Given the description of an element on the screen output the (x, y) to click on. 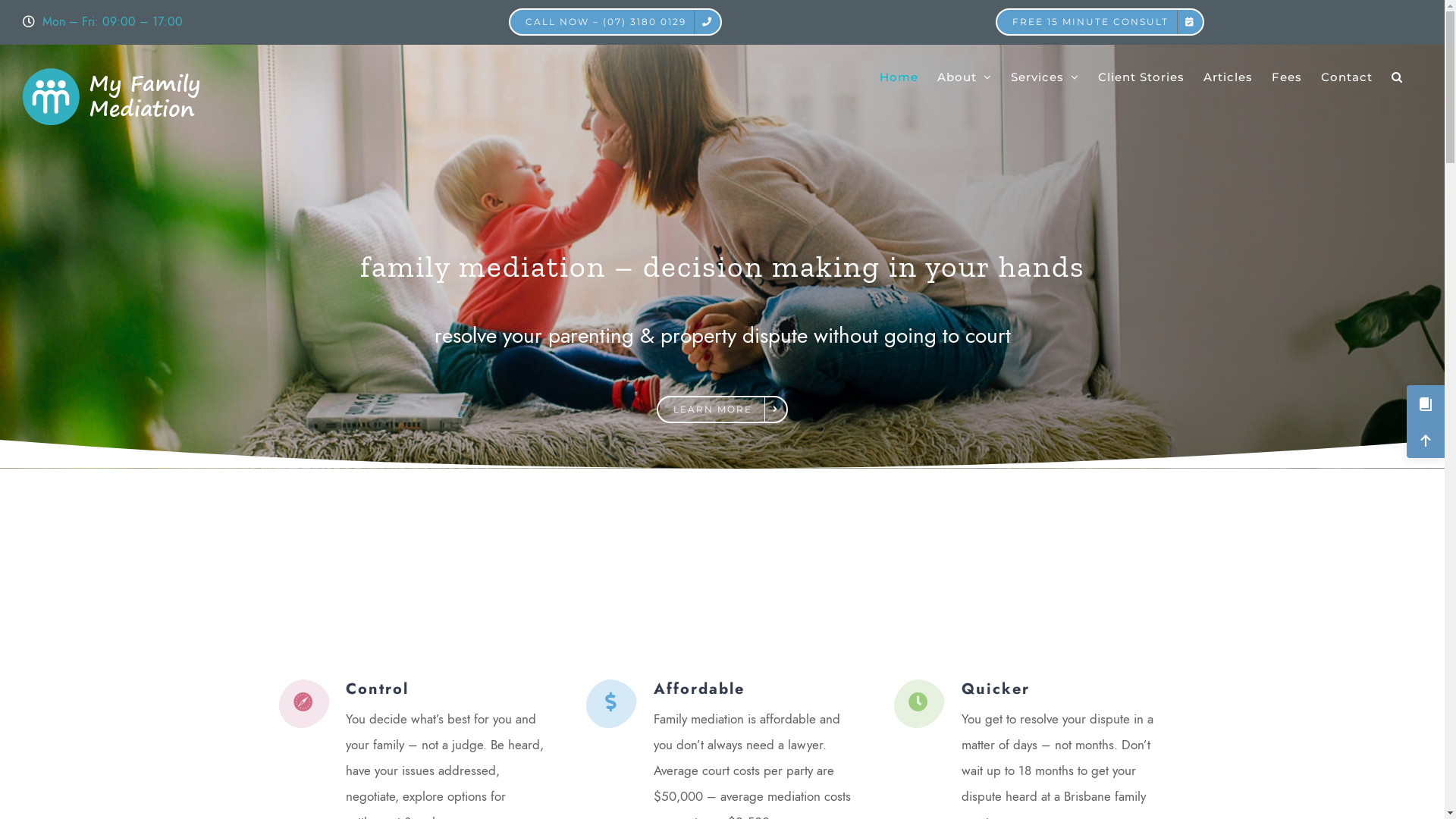
Fees Element type: text (1286, 76)
Client Stories Element type: text (1141, 76)
Services Element type: text (1044, 76)
Home Element type: text (898, 76)
Search Element type: hover (1396, 76)
About Element type: text (964, 76)
Articles Element type: text (1227, 76)
FREE 15 MINUTE CONSULT Element type: text (1099, 21)
Contact Element type: text (1346, 76)
LEARN MORE Element type: text (721, 409)
